Given the description of an element on the screen output the (x, y) to click on. 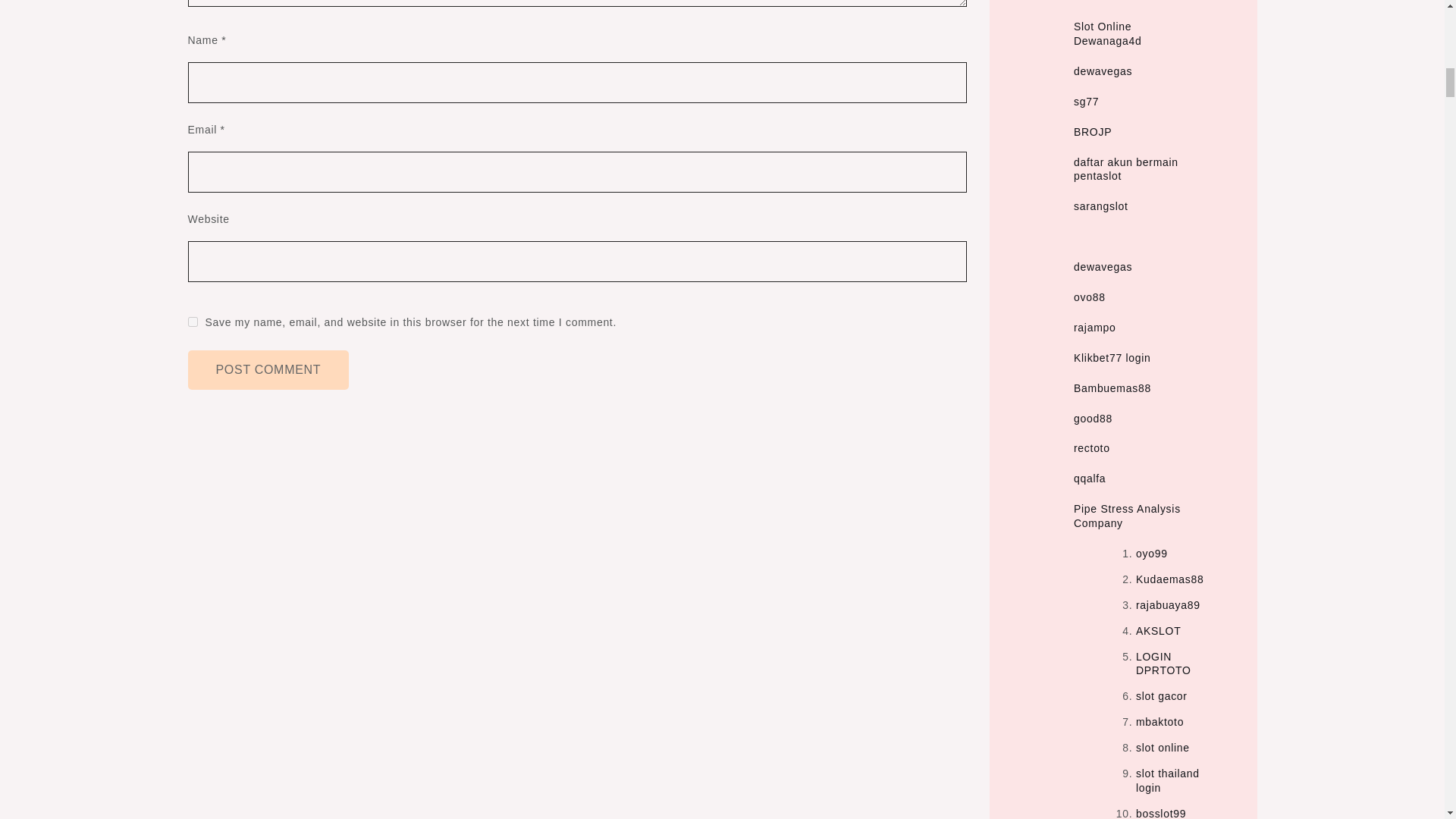
yes (192, 321)
Post Comment (268, 369)
Post Comment (268, 369)
